Given the description of an element on the screen output the (x, y) to click on. 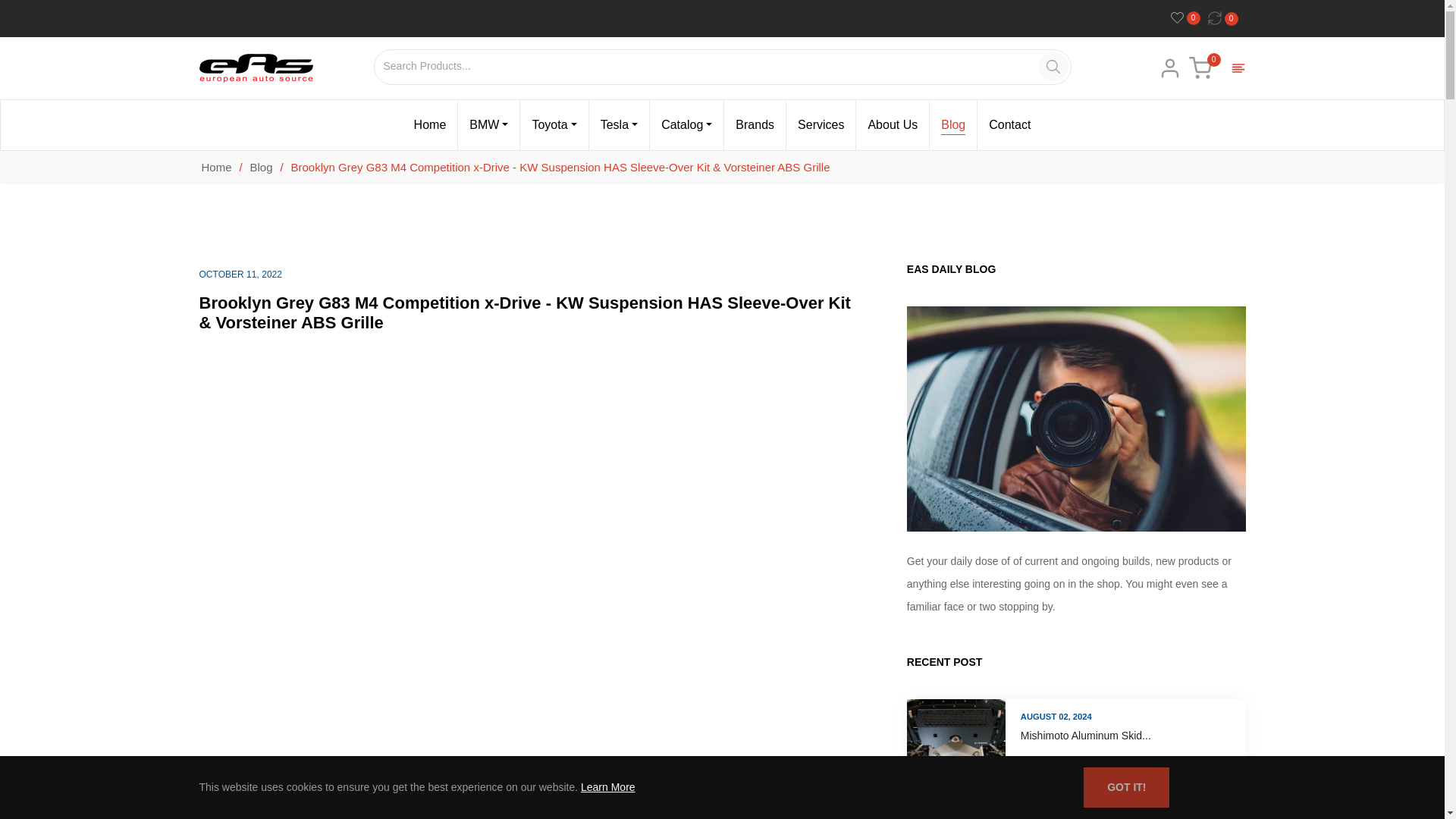
BMW (488, 124)
0 (1227, 18)
0 (1189, 18)
Compare (1227, 18)
Shopping Cart (1200, 66)
Home (215, 167)
Wishlist (1189, 18)
Home (430, 124)
